Given the description of an element on the screen output the (x, y) to click on. 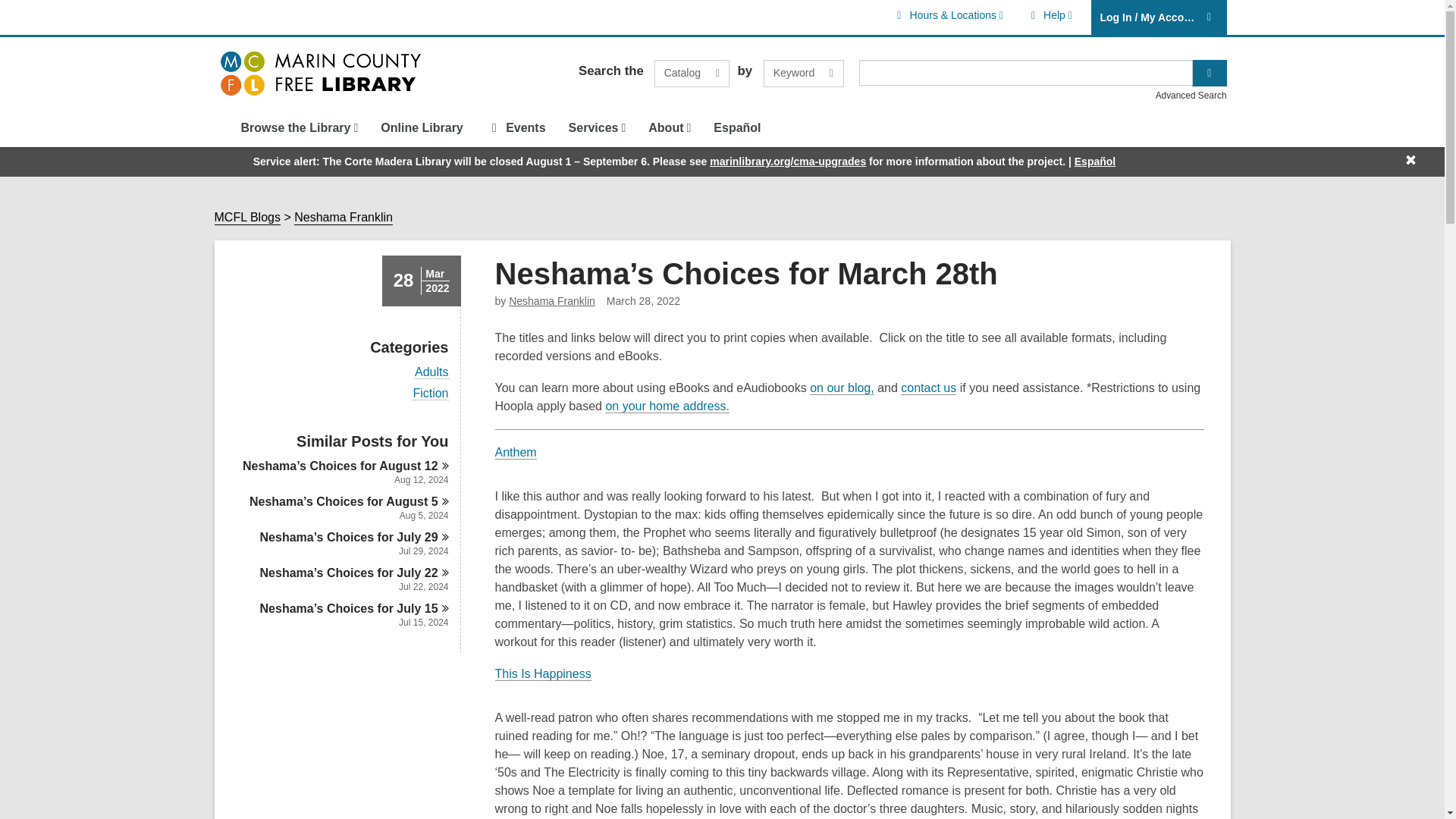
Keyword (803, 72)
Catalog (1048, 15)
